Given the description of an element on the screen output the (x, y) to click on. 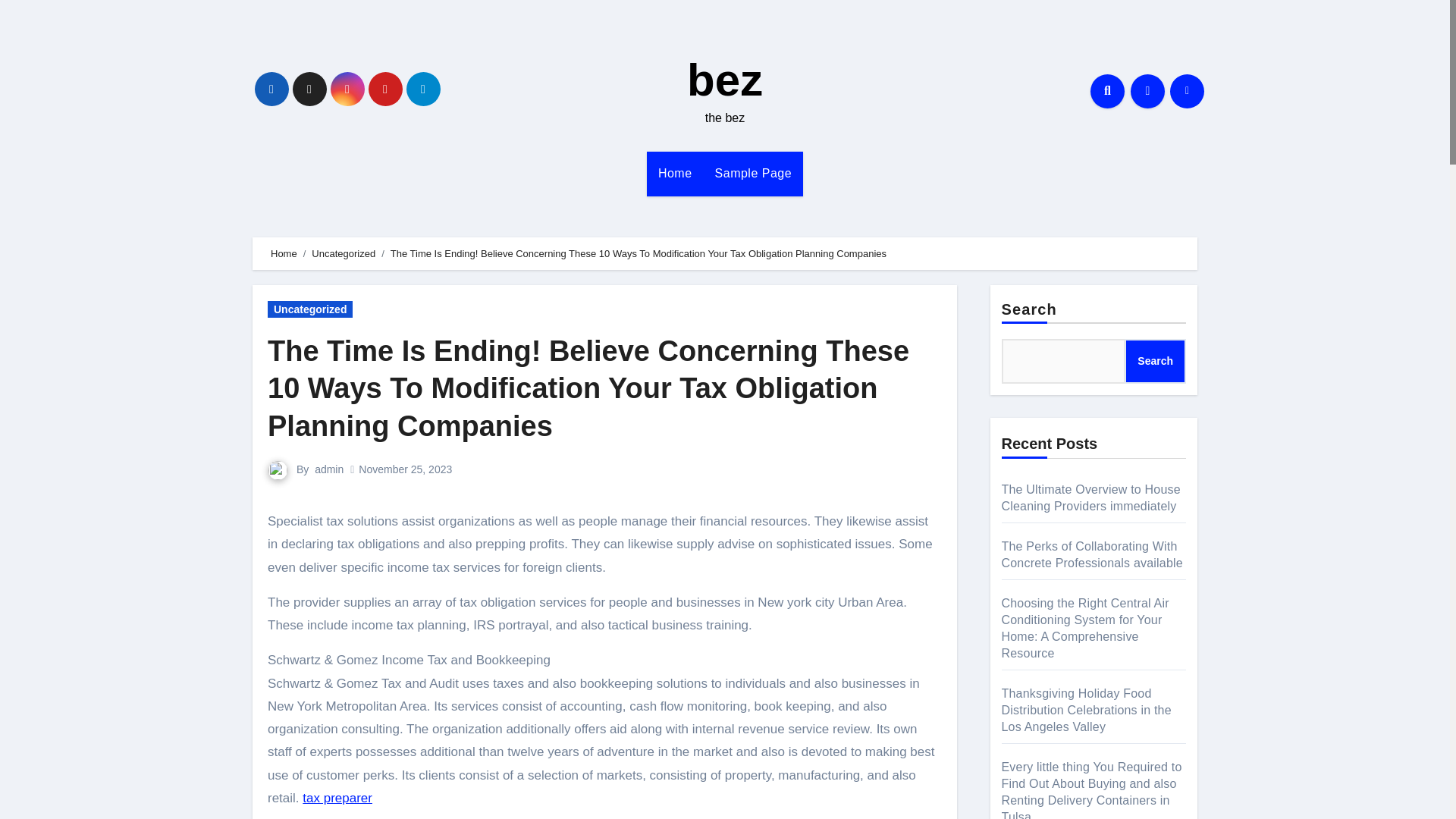
Sample Page (753, 173)
Home (674, 173)
November 25, 2023 (404, 469)
Uncategorized (343, 253)
Home (283, 253)
bez (724, 79)
Uncategorized (309, 309)
tax preparer (337, 798)
Home (674, 173)
